Given the description of an element on the screen output the (x, y) to click on. 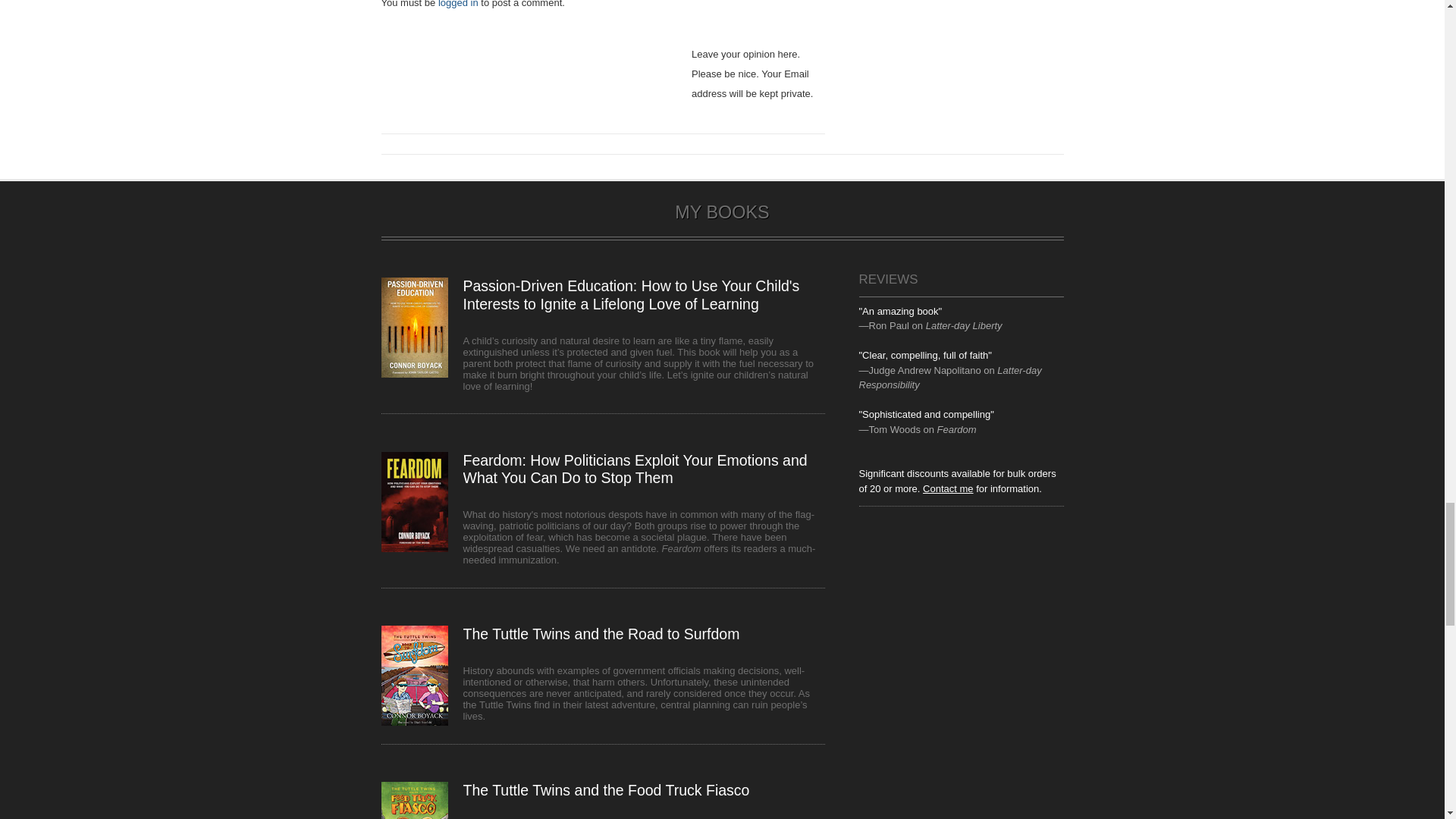
The Tuttle Twins and the Road to Surfdom (601, 633)
logged in (458, 4)
